Given the description of an element on the screen output the (x, y) to click on. 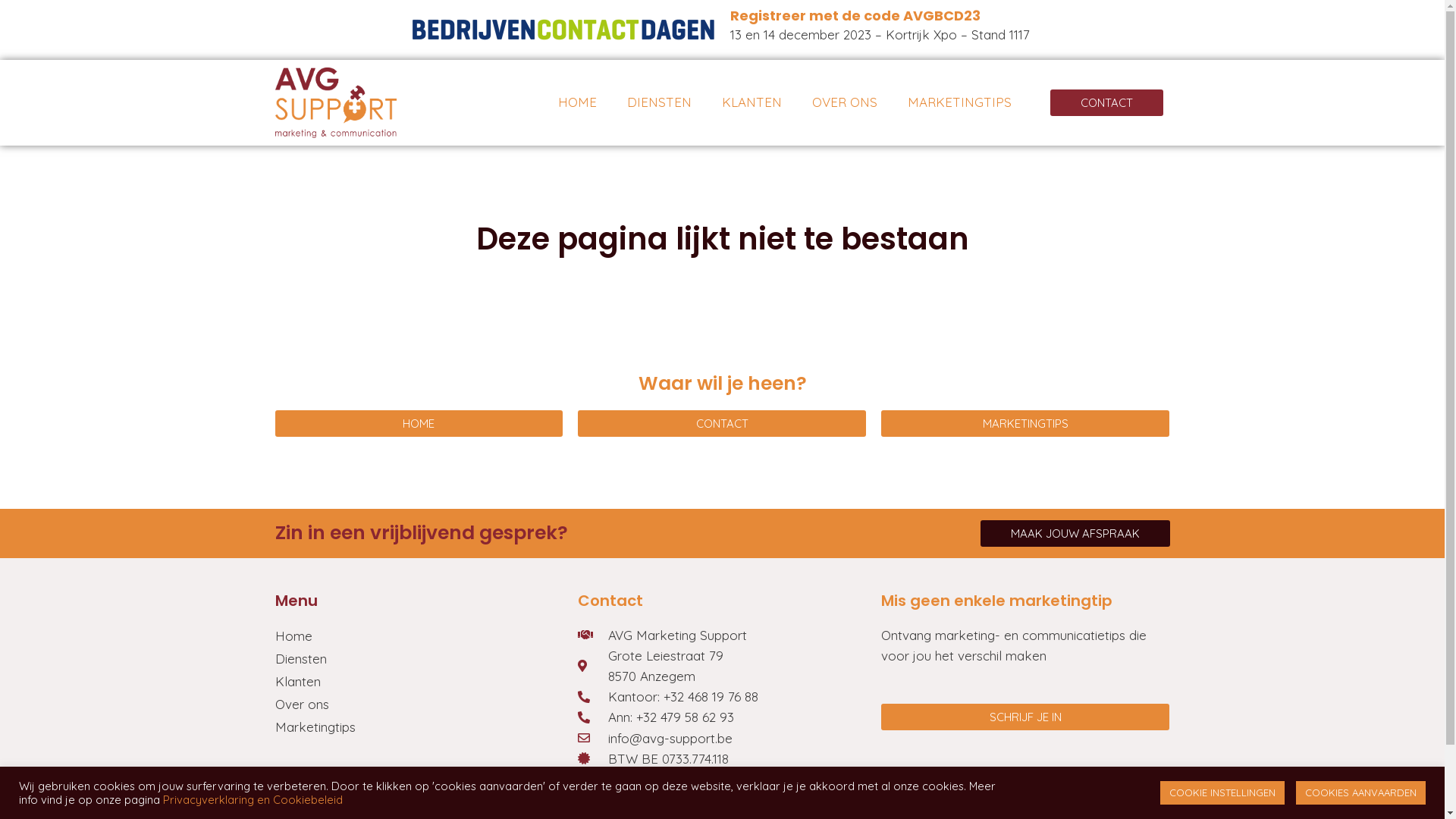
MARKETINGTIPS Element type: text (1025, 423)
MARKETINGTIPS Element type: text (959, 101)
Linkedin-in Element type: text (653, 797)
DIENSTEN Element type: text (658, 101)
Home Element type: text (418, 635)
AVG Marketing Support Element type: text (721, 634)
SCHRIJF JE IN Element type: text (1025, 716)
Registreer met de code AVGBCD23 Element type: text (854, 15)
OVER ONS Element type: text (844, 101)
Kantoor: +32 468 19 76 88 Element type: text (721, 696)
Facebook-f Element type: text (590, 797)
info@avg-support.be Element type: text (721, 738)
Ann: +32 479 58 62 93 Element type: text (721, 716)
Instagram Element type: text (622, 797)
Klanten Element type: text (418, 681)
HOME Element type: text (576, 101)
Diensten Element type: text (418, 658)
MAAK JOUW AFSPRAAK Element type: text (1074, 533)
Over ons Element type: text (418, 704)
KLANTEN Element type: text (751, 101)
BCD_Logo_Horizontaal Element type: hover (562, 29)
COOKIE INSTELLINGEN Element type: text (1222, 792)
Marketingtips Element type: text (418, 726)
Privacyverklaring en Cookiebeleid Element type: text (252, 798)
Grote Leiestraat 79
8570 Anzegem Element type: text (721, 665)
COOKIES AANVAARDEN Element type: text (1360, 792)
CONTACT Element type: text (1106, 102)
CONTACT Element type: text (721, 423)
Whatsapp Element type: text (684, 797)
HOME Element type: text (418, 423)
